Given the description of an element on the screen output the (x, y) to click on. 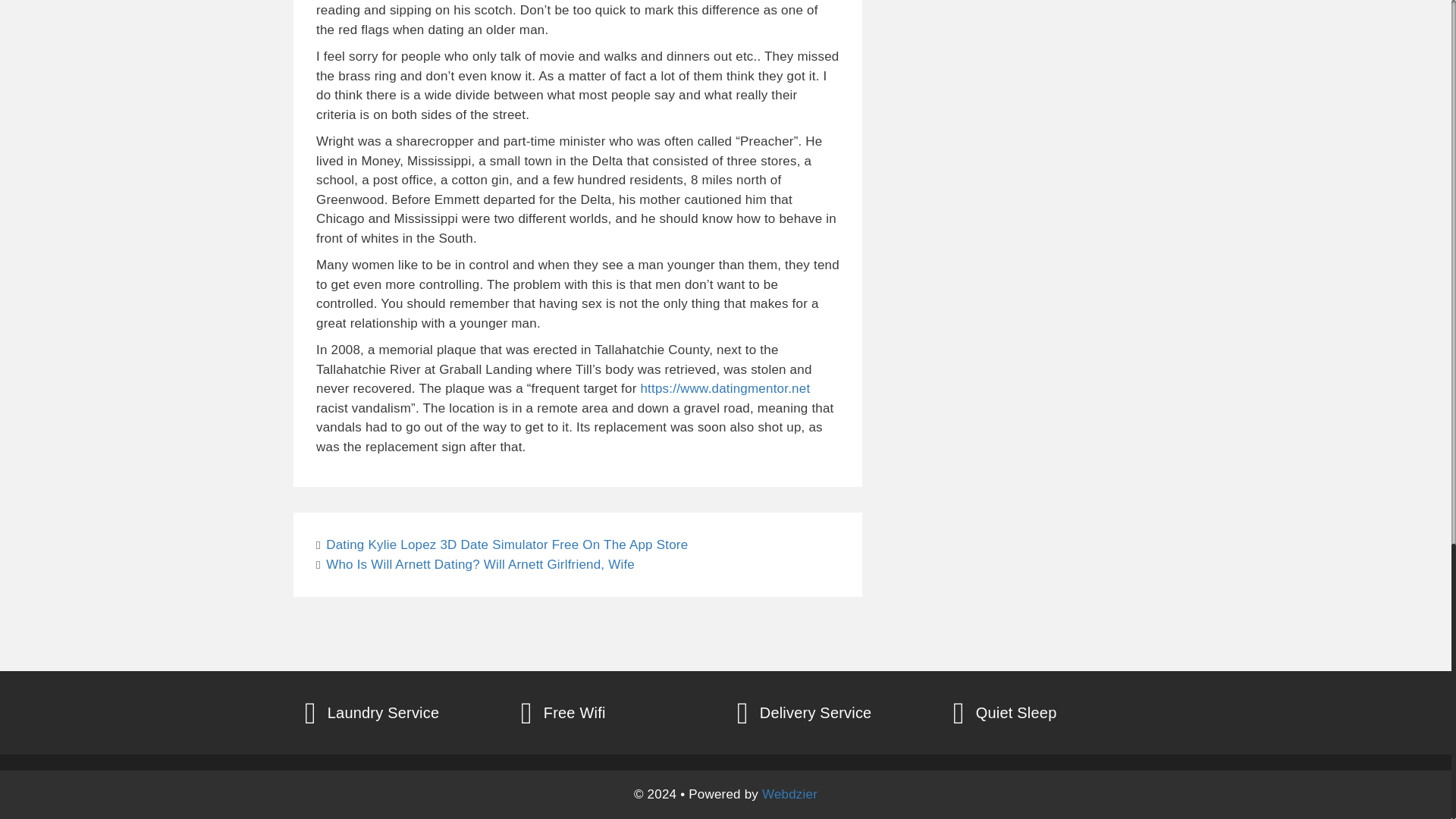
Next (474, 564)
Webdzier (788, 794)
Nasser.Abu.Sad (469, 97)
Who Is Will Arnett Dating? Will Arnett Girlfriend, Wife (480, 564)
April 1, 2023 (363, 155)
Dating Kylie Lopez 3D Date Simulator Free On The App Store (506, 544)
thecabinhostel.com (382, 184)
Previous (501, 544)
